Given the description of an element on the screen output the (x, y) to click on. 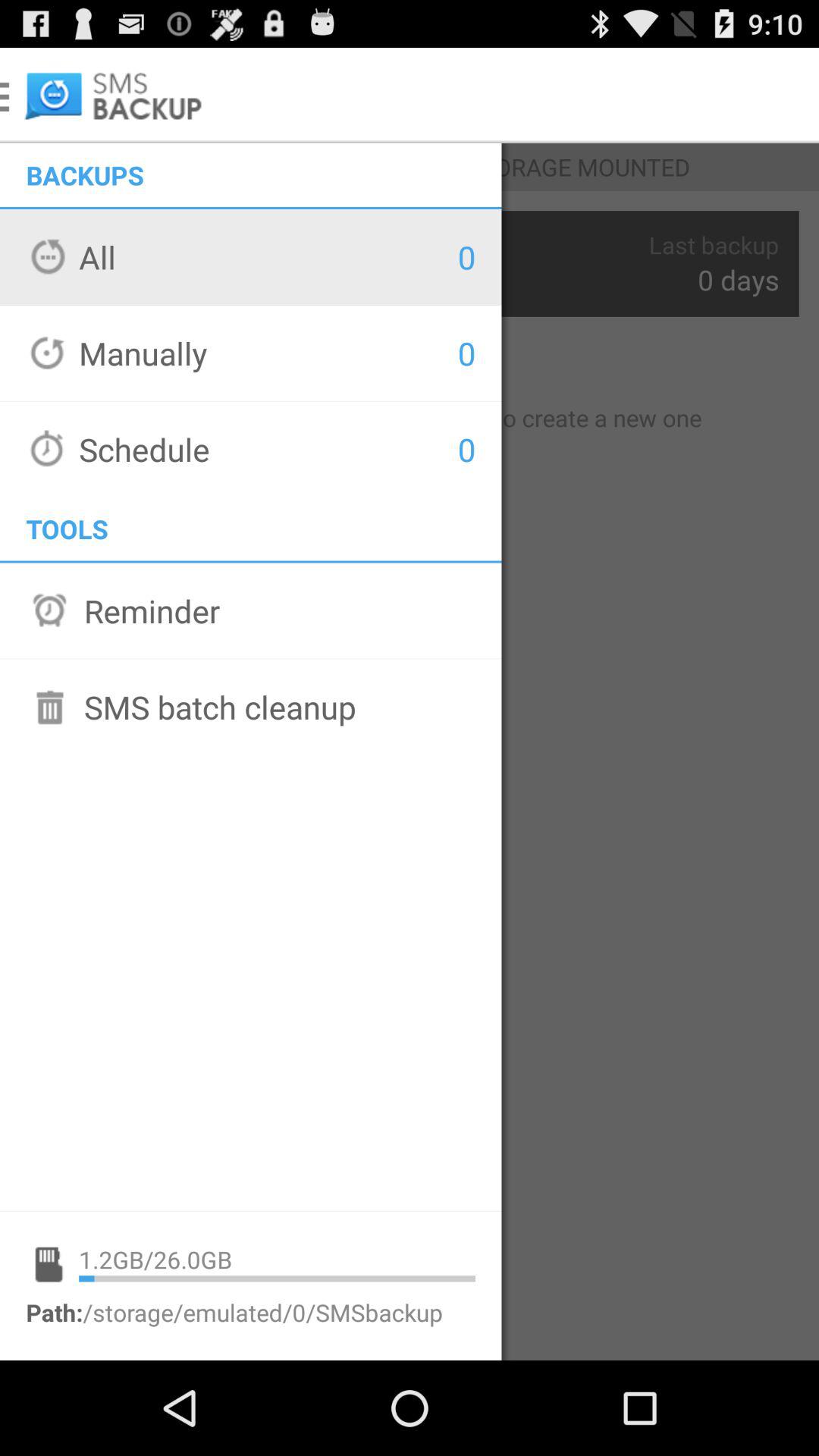
select the option all shown below backups (88, 266)
